Given the description of an element on the screen output the (x, y) to click on. 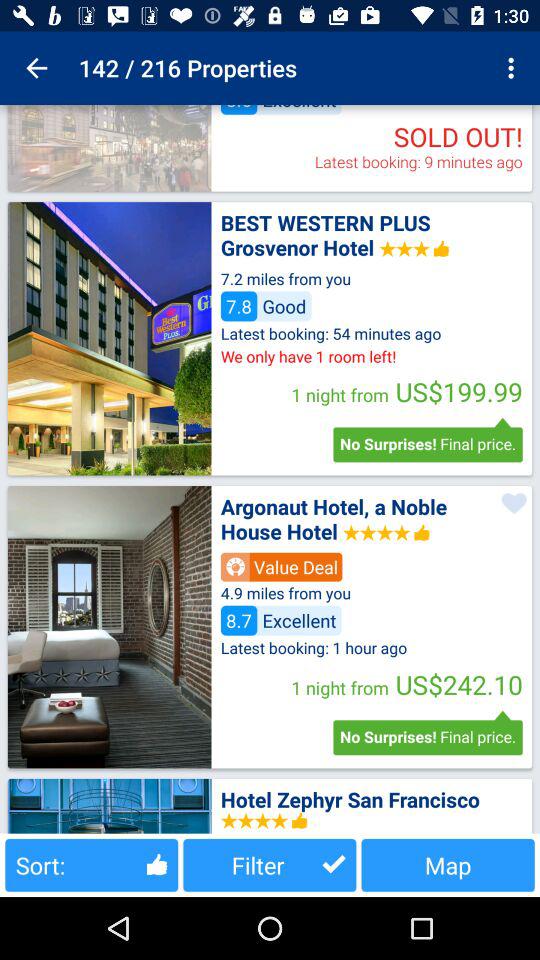
choose the item next to 142 / 216 properties app (36, 68)
